Given the description of an element on the screen output the (x, y) to click on. 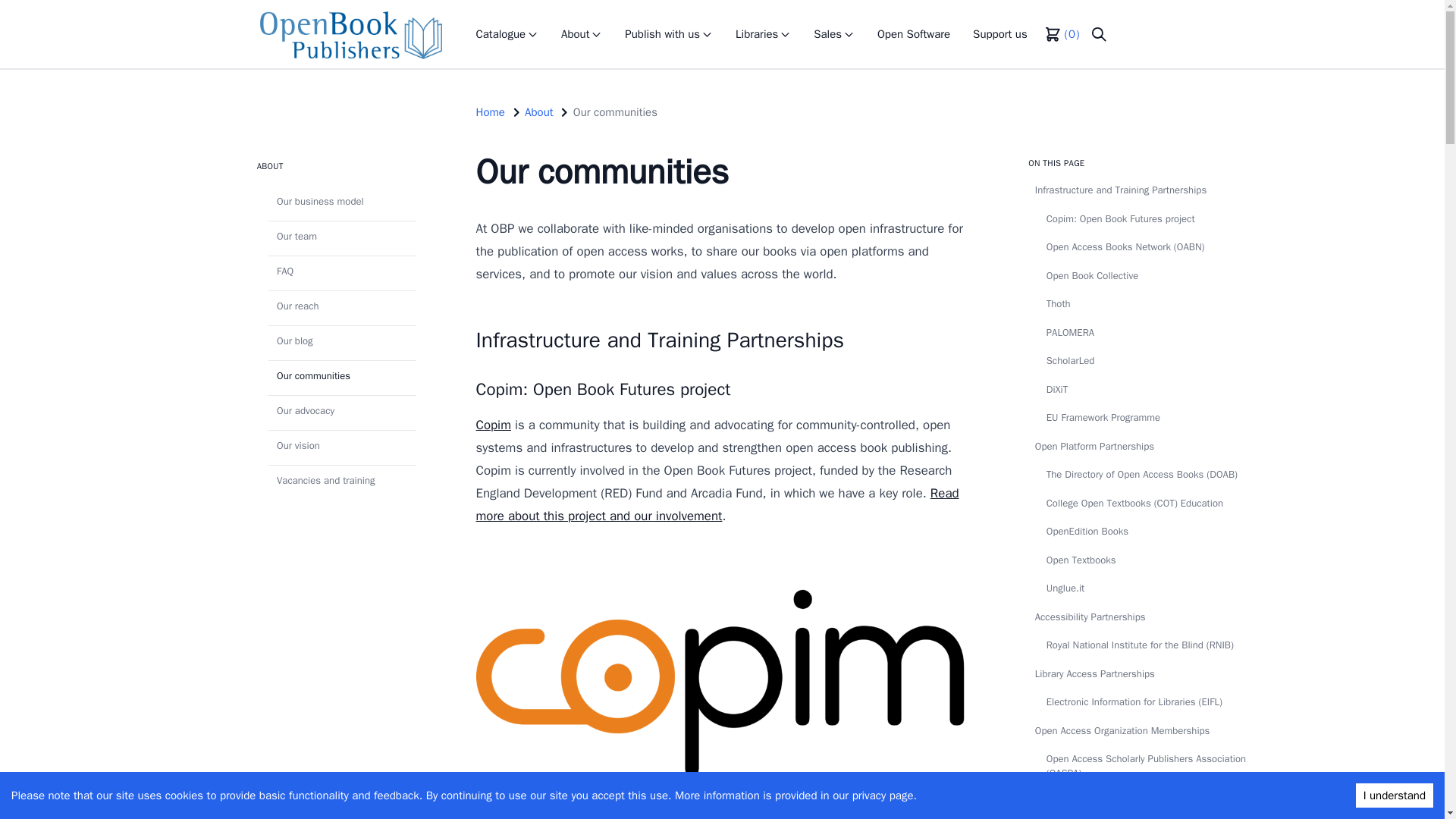
Open Software (912, 33)
Our reach (341, 305)
Our advocacy (341, 410)
About (580, 33)
FAQ (341, 270)
Our business model (341, 200)
Read more about this project and our involvement (717, 504)
Copim (493, 424)
Publish with us (669, 33)
Our vision (341, 444)
